Given the description of an element on the screen output the (x, y) to click on. 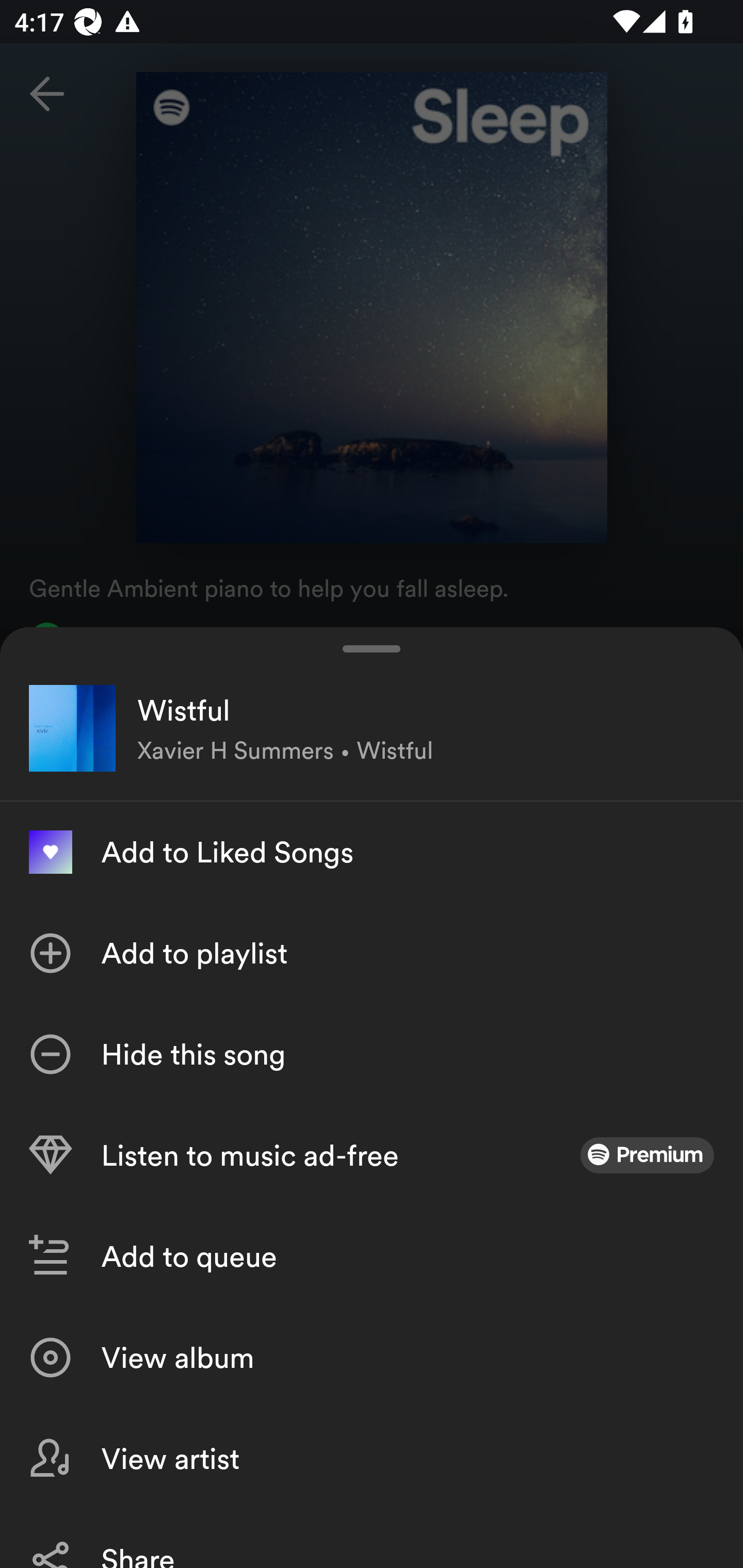
Add to Liked Songs (371, 852)
Add to playlist (371, 953)
Hide this song (371, 1054)
Listen to music ad-free (371, 1155)
Add to queue (371, 1256)
View album (371, 1357)
View artist (371, 1458)
Share (371, 1538)
